Given the description of an element on the screen output the (x, y) to click on. 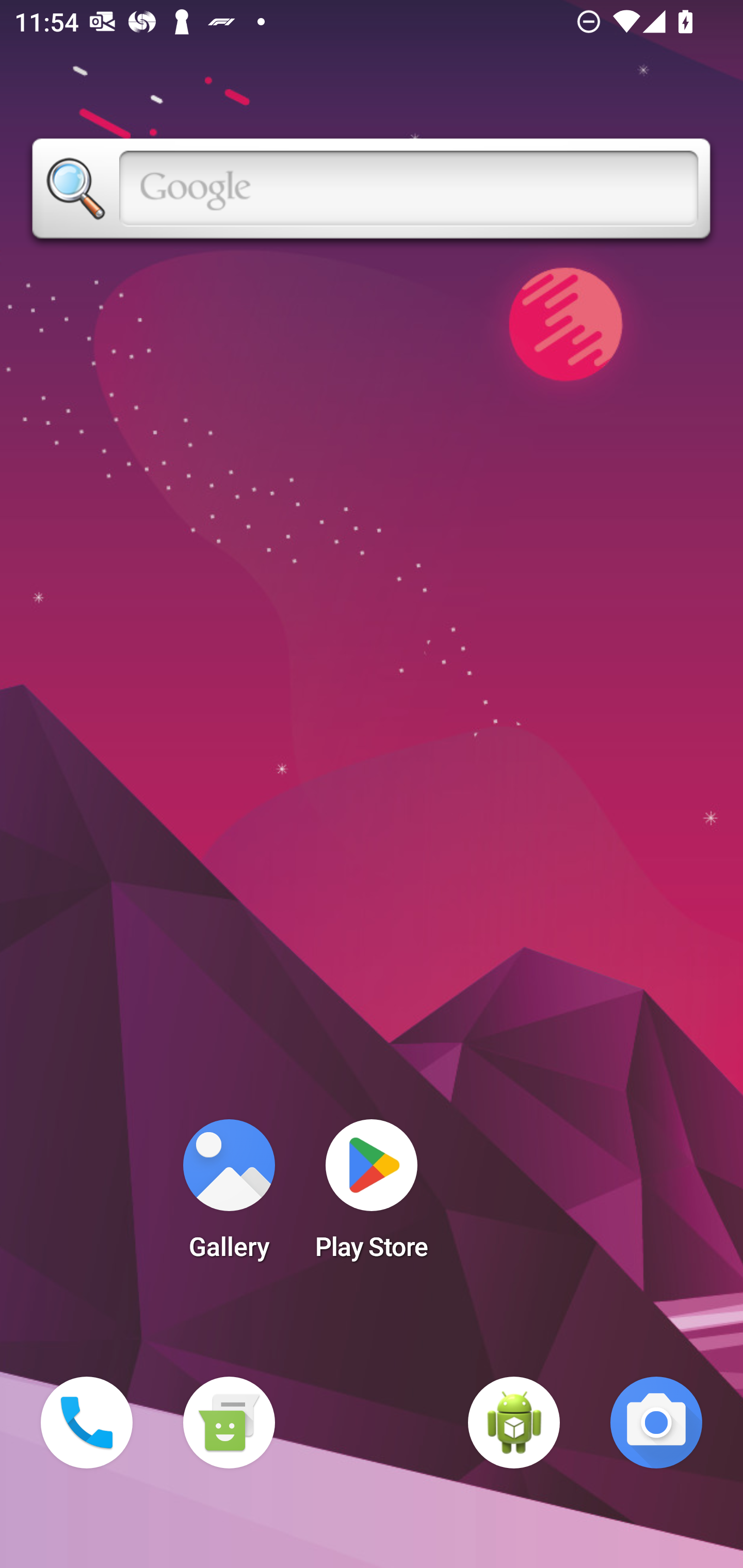
Gallery (228, 1195)
Play Store (371, 1195)
Phone (86, 1422)
Messaging (228, 1422)
WebView Browser Tester (513, 1422)
Camera (656, 1422)
